Given the description of an element on the screen output the (x, y) to click on. 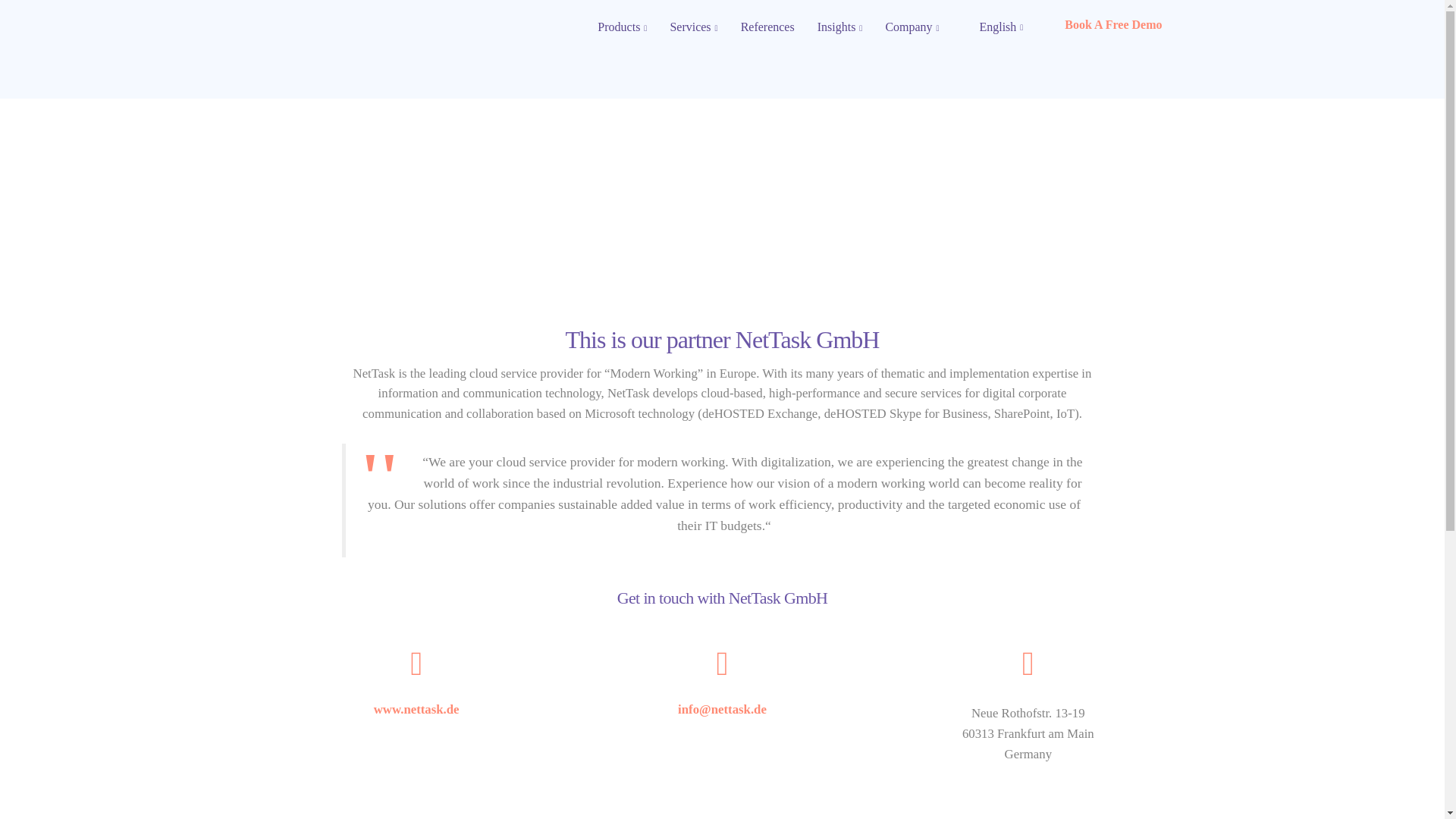
Services (693, 26)
Products (622, 26)
References (767, 26)
Home (658, 75)
Germany (702, 75)
Services (693, 26)
Products (622, 26)
www.nettask.de (417, 708)
Book A Free Demo (1112, 24)
Company (911, 26)
